Given the description of an element on the screen output the (x, y) to click on. 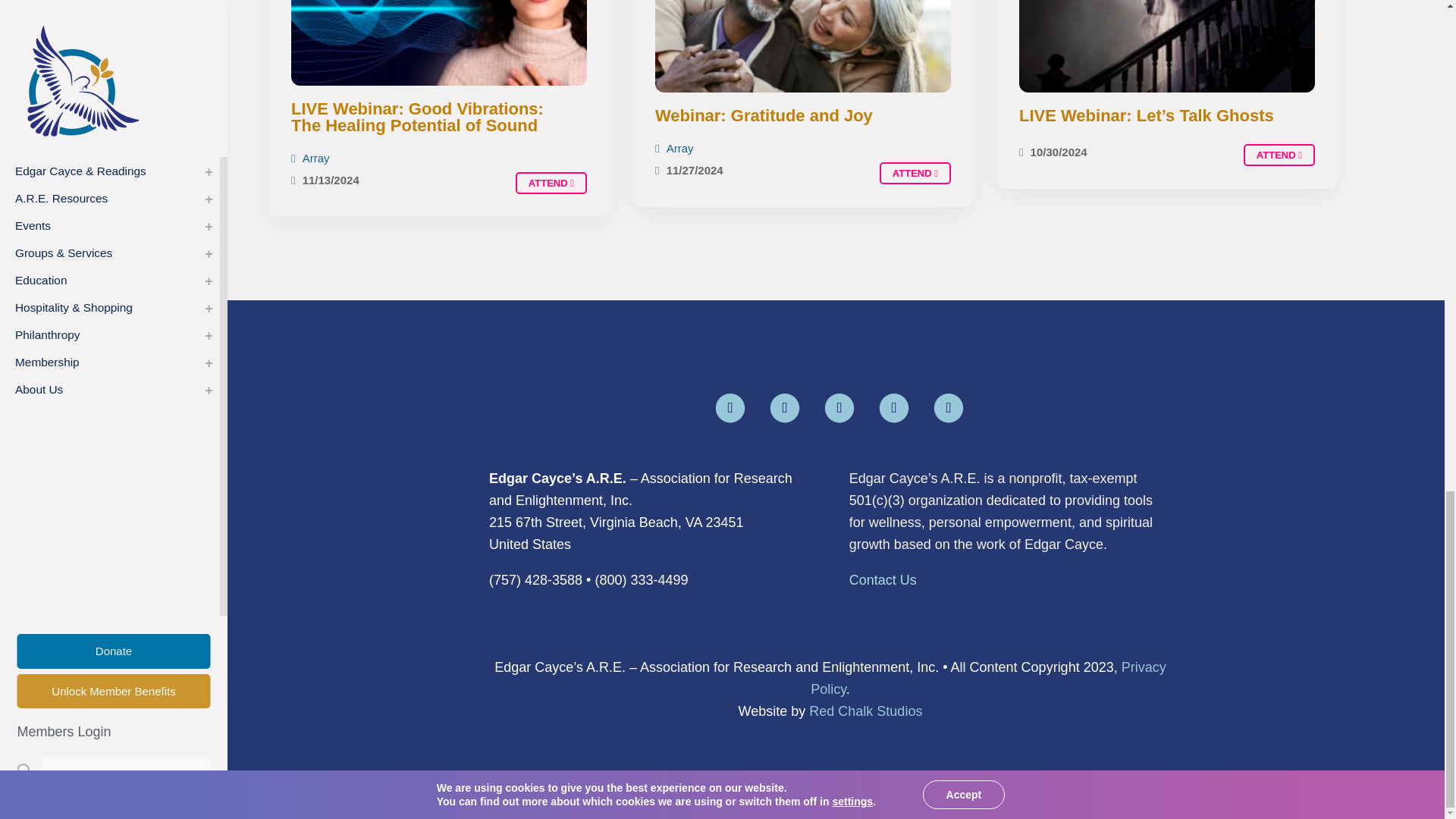
Webinar: Gratitude and Joy (914, 173)
Follow on X (782, 405)
Follow on Facebook (727, 405)
Follow on Instagram (891, 405)
Follow on Youtube (836, 405)
Follow on Pinterest (946, 405)
Contact Us (882, 580)
